Given the description of an element on the screen output the (x, y) to click on. 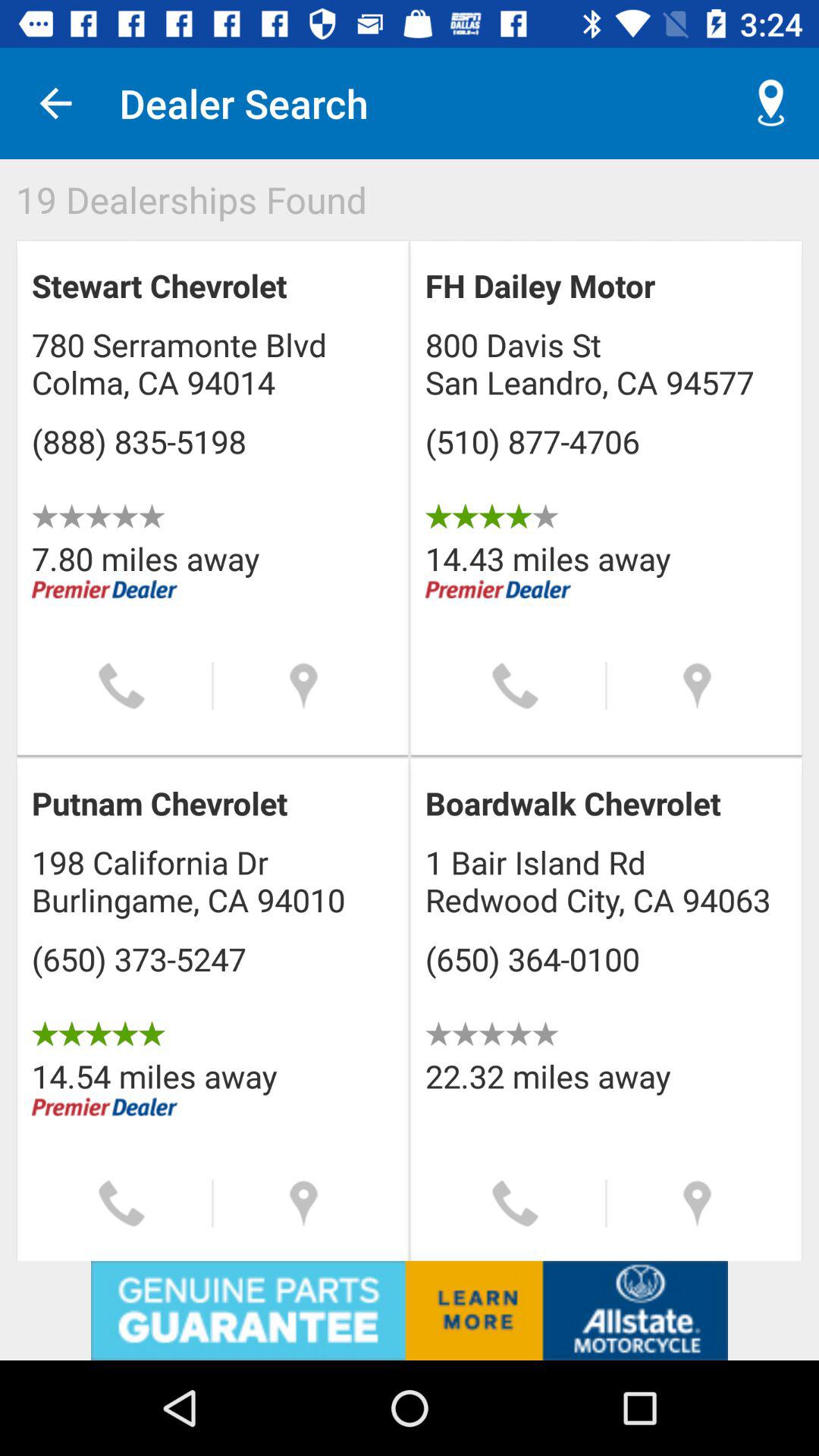
view on map (697, 1203)
